Given the description of an element on the screen output the (x, y) to click on. 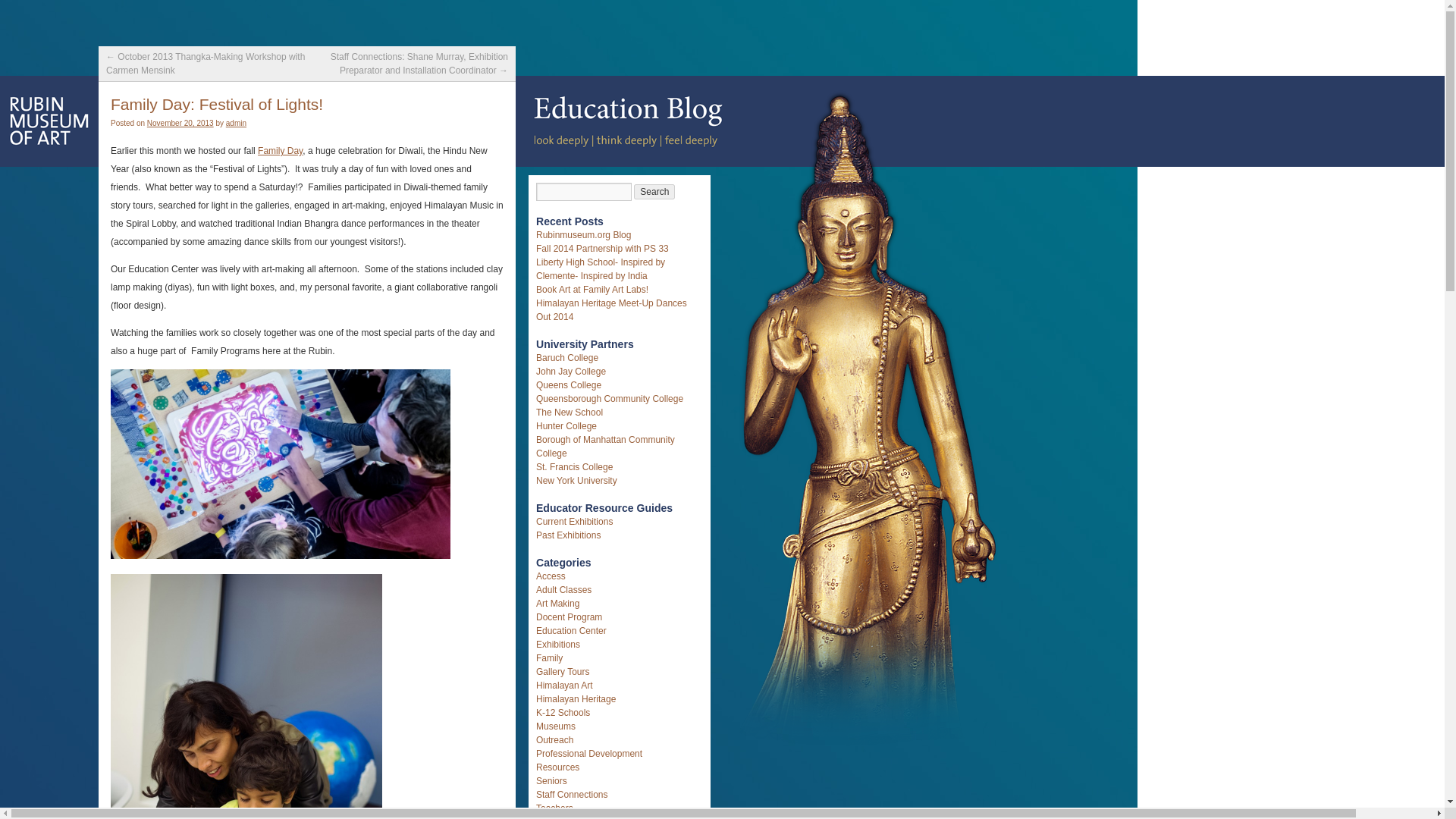
Family Day (279, 150)
5:31 pm (180, 122)
View all posts by admin (235, 122)
Family Day (279, 150)
admin (235, 122)
Search (654, 191)
November 20, 2013 (180, 122)
